Given the description of an element on the screen output the (x, y) to click on. 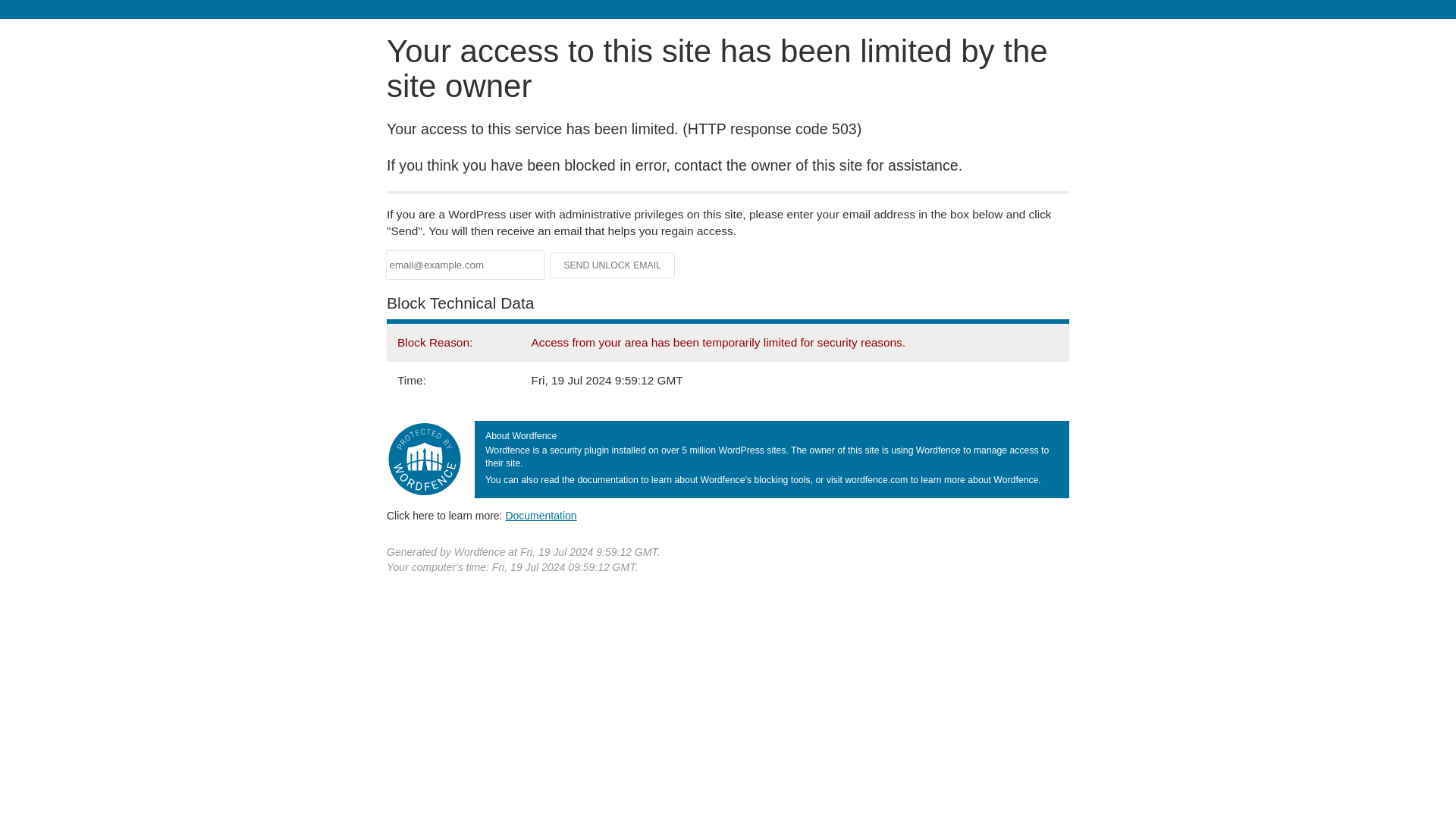
Send Unlock Email (612, 265)
Documentation (540, 515)
Send Unlock Email (612, 265)
